Given the description of an element on the screen output the (x, y) to click on. 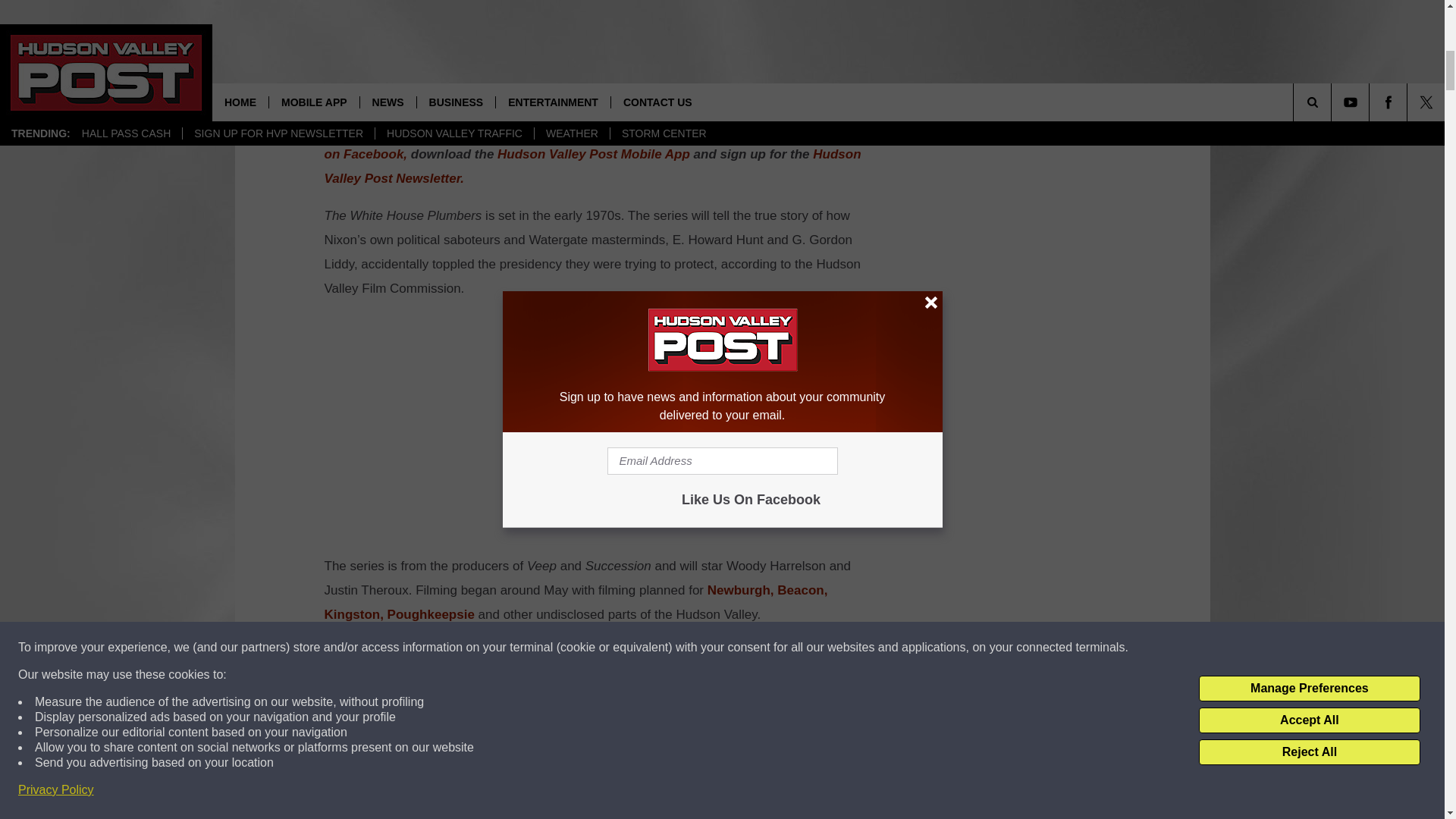
Email Address (600, 697)
